Given the description of an element on the screen output the (x, y) to click on. 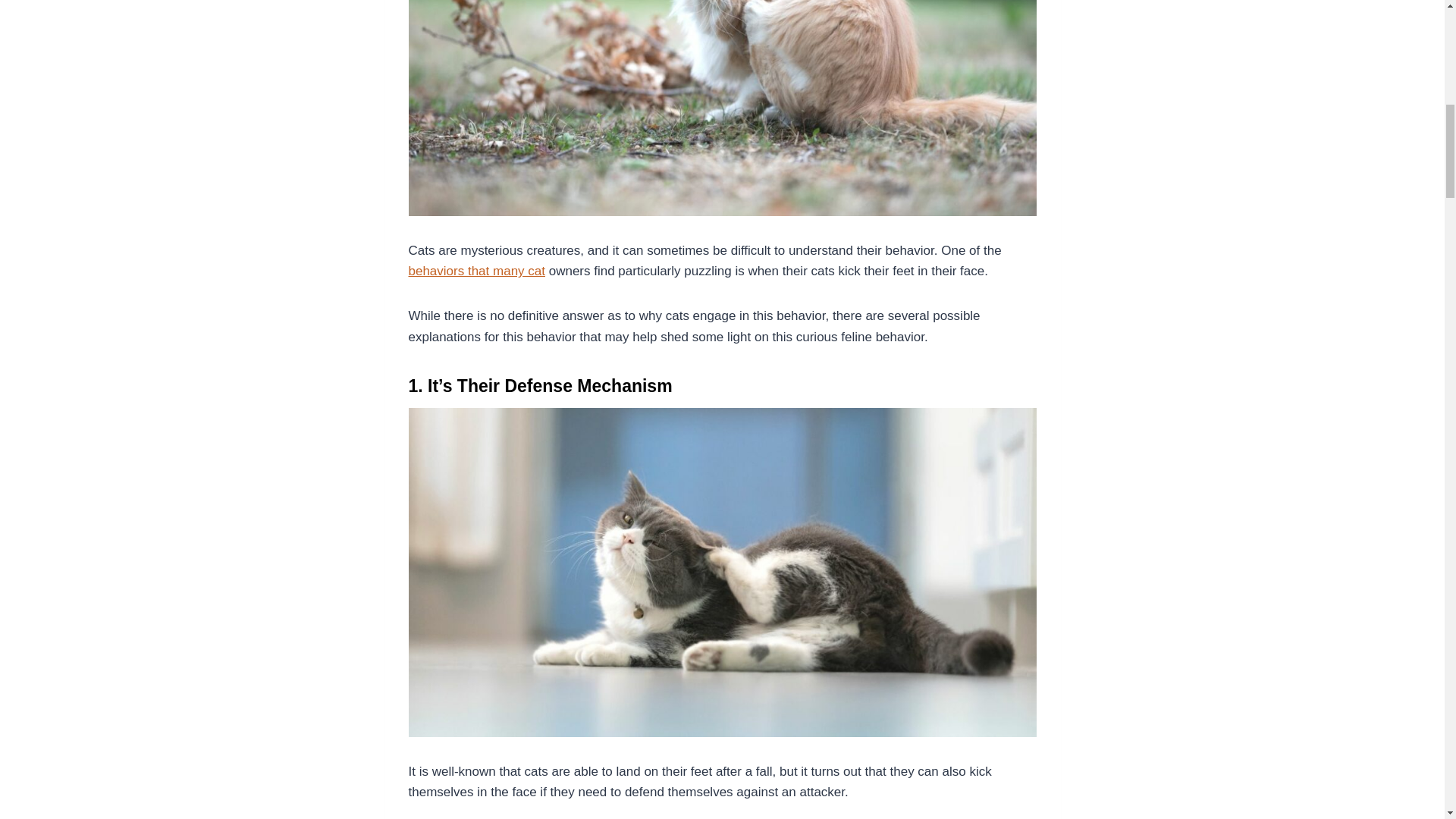
behaviors that many cat (475, 270)
